Given the description of an element on the screen output the (x, y) to click on. 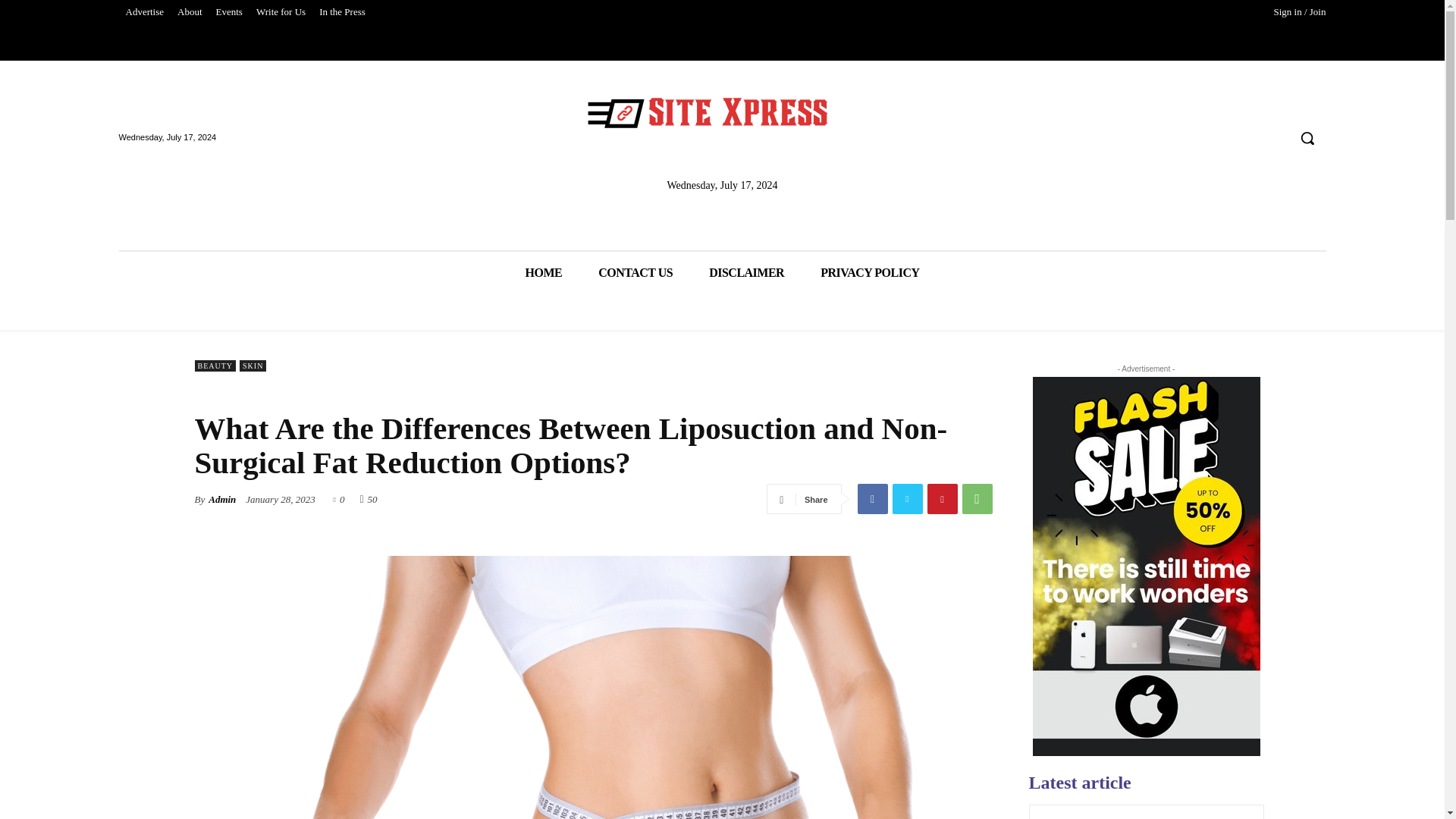
Facebook (871, 499)
Write for Us (280, 12)
SKIN (253, 365)
BEAUTY (214, 365)
DISCLAIMER (746, 272)
WhatsApp (975, 499)
Events (228, 12)
Pinterest (941, 499)
Advertise (143, 12)
HOME (542, 272)
Admin (221, 499)
Twitter (906, 499)
CONTACT US (634, 272)
PRIVACY POLICY (869, 272)
In the Press (342, 12)
